Given the description of an element on the screen output the (x, y) to click on. 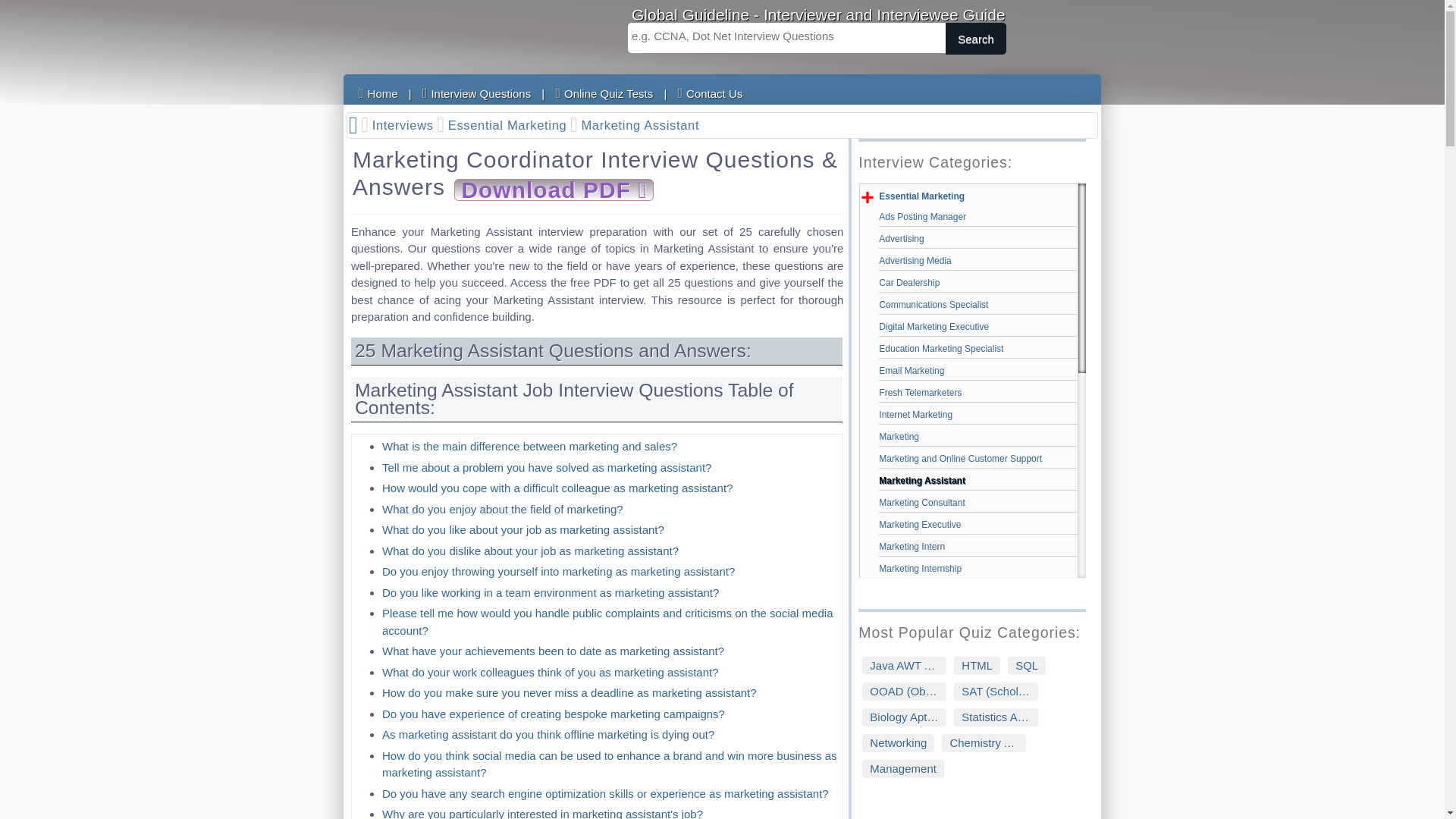
What do you enjoy about the field of marketing? (502, 508)
What do you dislike about your job as marketing assistant? (529, 550)
Marketing Assistant (640, 125)
Essential Marketing (513, 125)
Home (378, 92)
Search (975, 38)
